Given the description of an element on the screen output the (x, y) to click on. 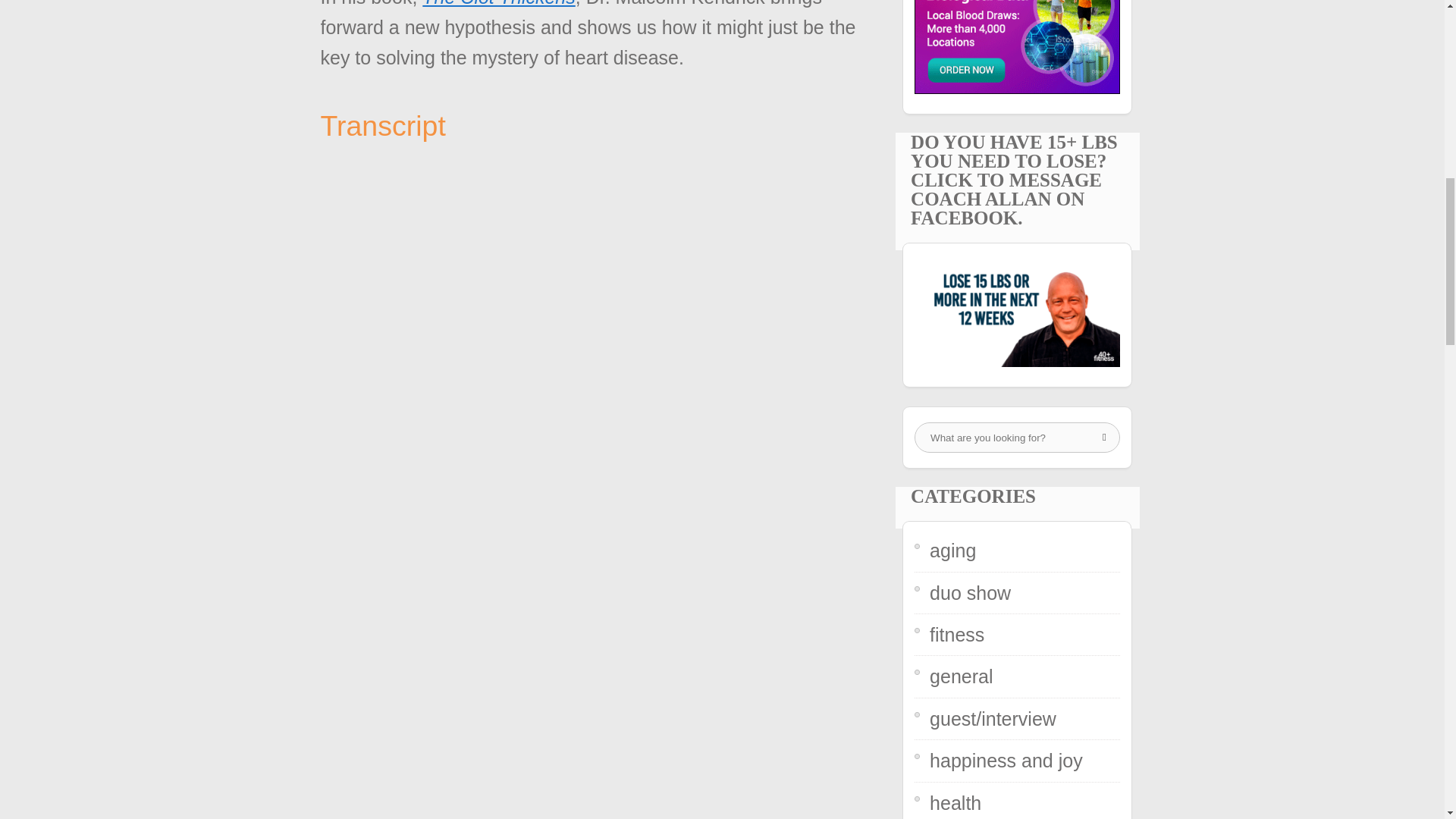
The Clot Thickens (498, 3)
fitness (957, 634)
happiness and joy (1006, 760)
duo show (970, 592)
health (955, 802)
aging (952, 550)
general (961, 676)
